Given the description of an element on the screen output the (x, y) to click on. 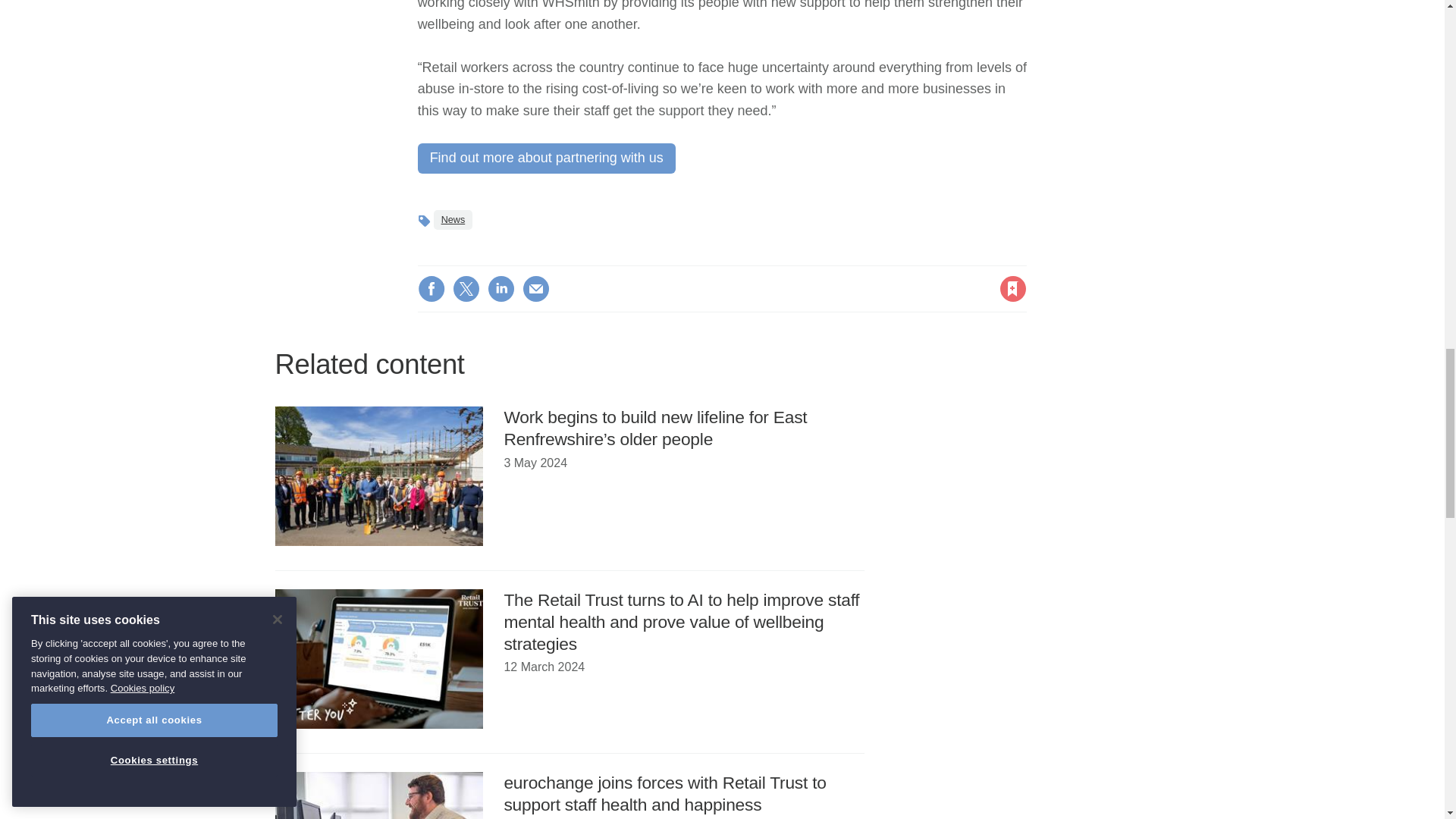
Email this article (536, 288)
Share this on Linked in (501, 288)
Share this on Twitter (466, 288)
Share this on Facebook (431, 288)
